Given the description of an element on the screen output the (x, y) to click on. 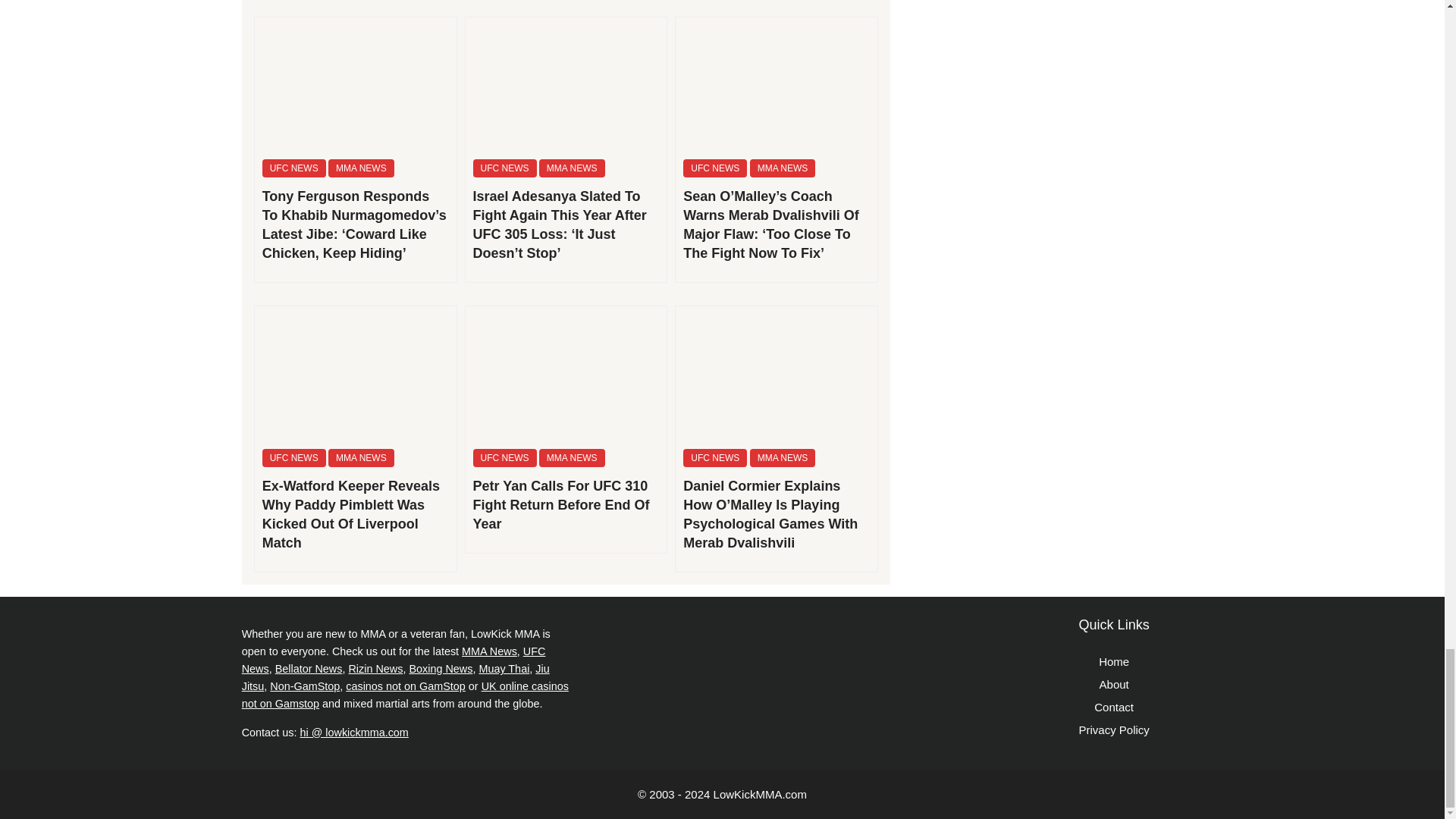
Petr Yan calls for UFC 310 fight return before end of year 6 (565, 373)
